Given the description of an element on the screen output the (x, y) to click on. 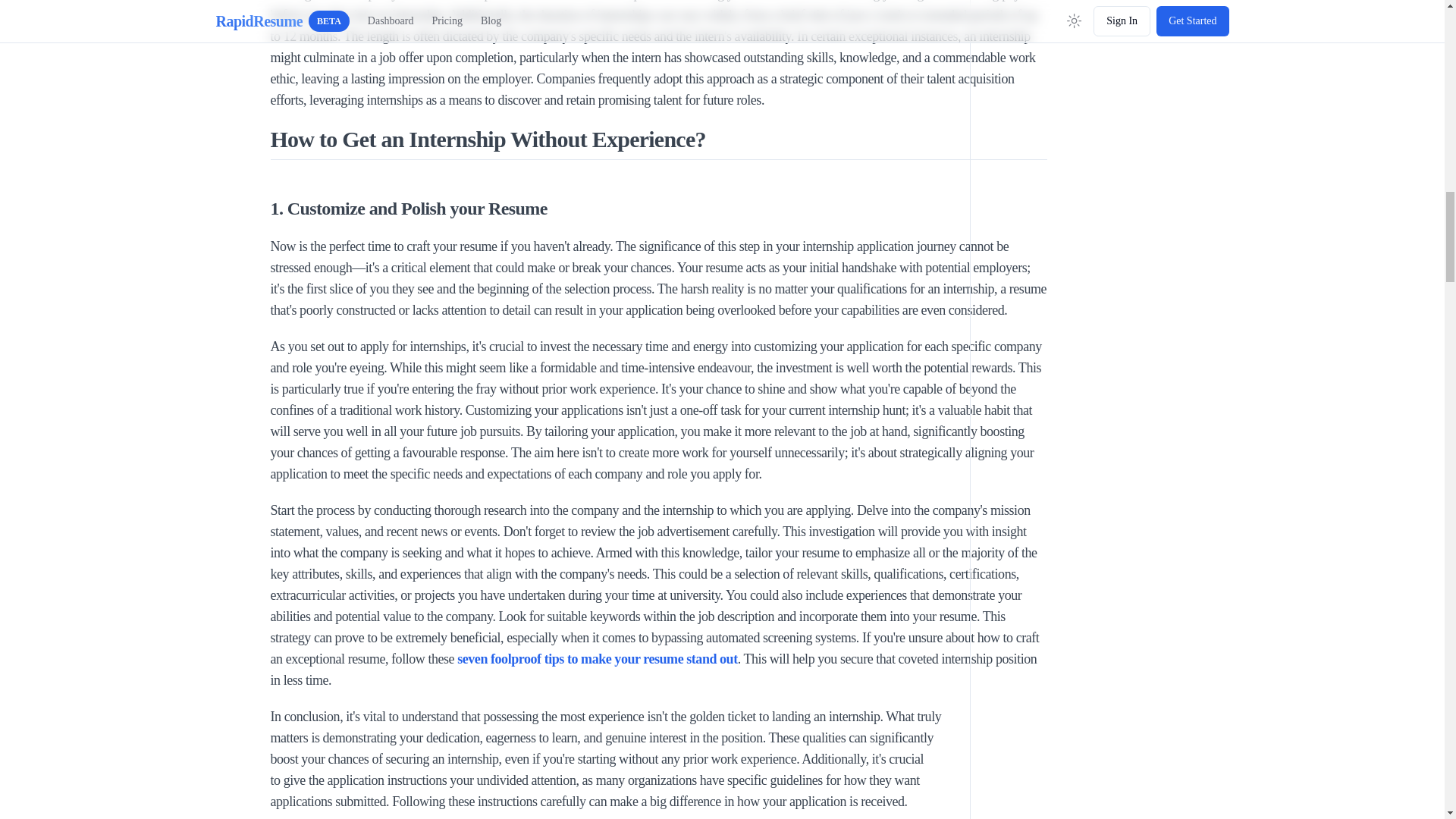
seven foolproof tips to make your resume stand out (597, 658)
How to Get an Internship Without Experience? (657, 142)
1. Customize and Polish your Resume (657, 208)
